Given the description of an element on the screen output the (x, y) to click on. 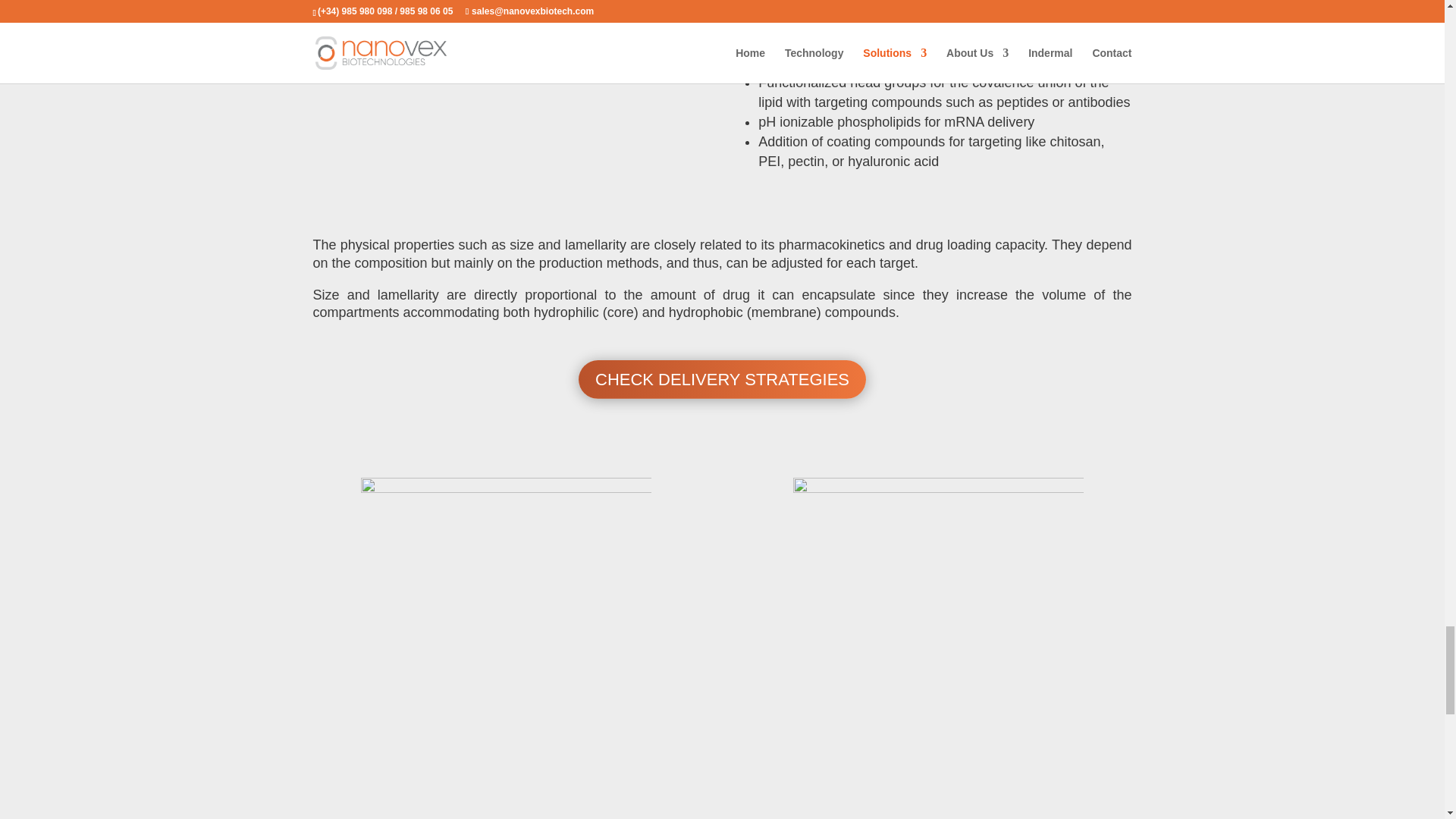
CHECK DELIVERY STRATEGIES (722, 379)
how-do-liposomes-provide-a-way-of-targeting-drugs (505, 97)
